Given the description of an element on the screen output the (x, y) to click on. 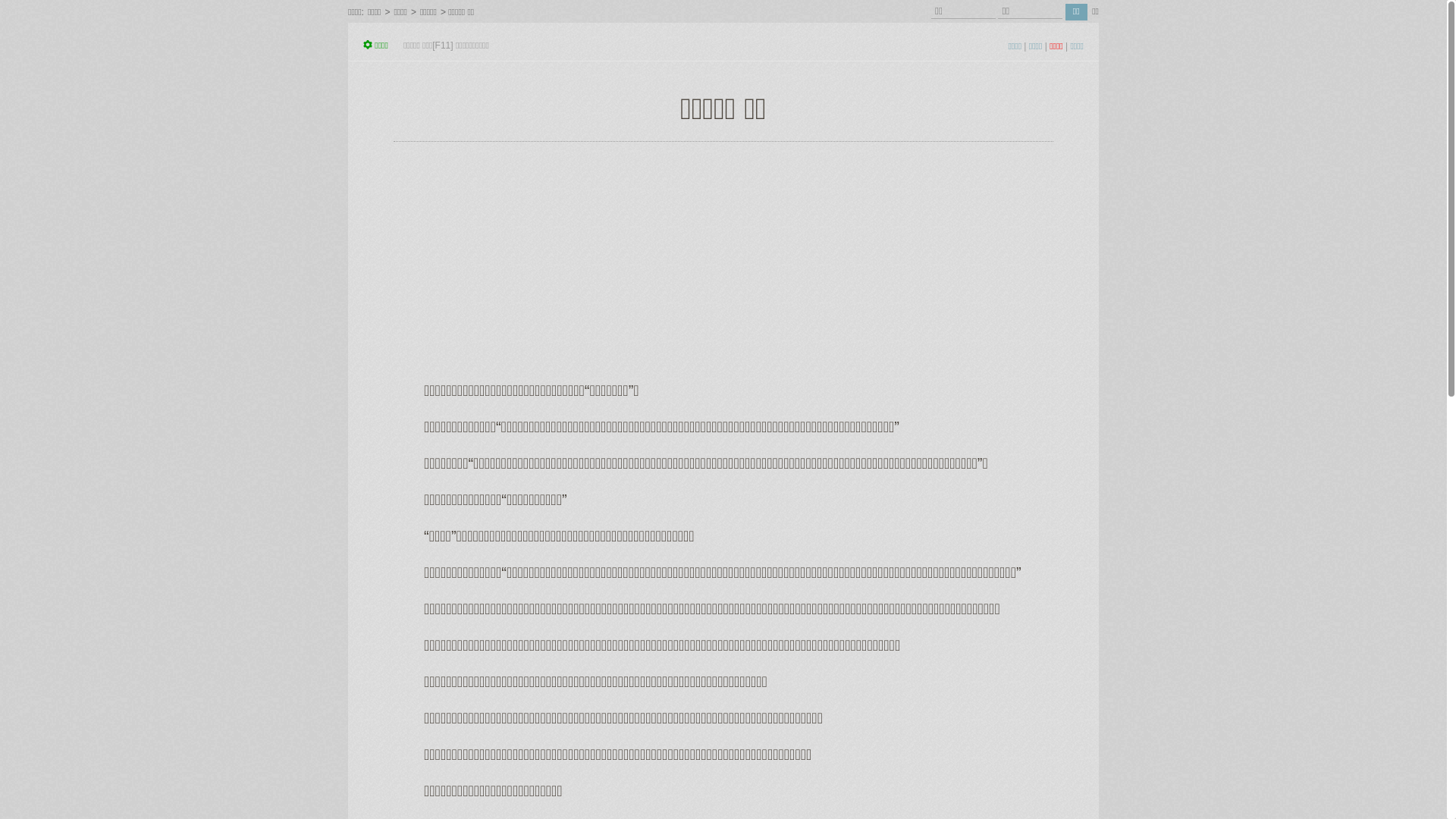
Advertisement Element type: hover (723, 259)
